Given the description of an element on the screen output the (x, y) to click on. 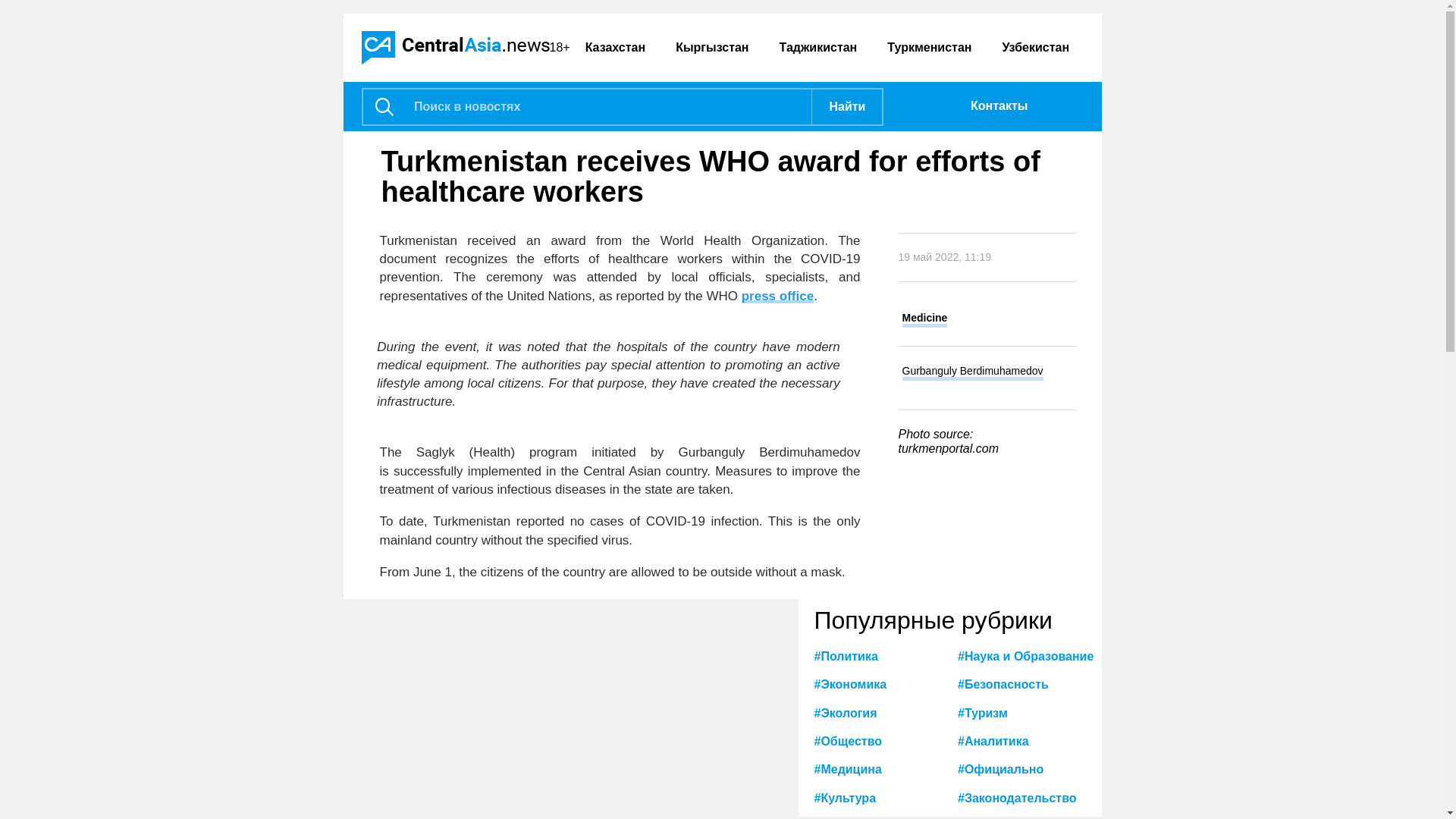
Gurbanguly Berdimuhamedov (972, 372)
Medicine (924, 319)
press office (777, 296)
